Given the description of an element on the screen output the (x, y) to click on. 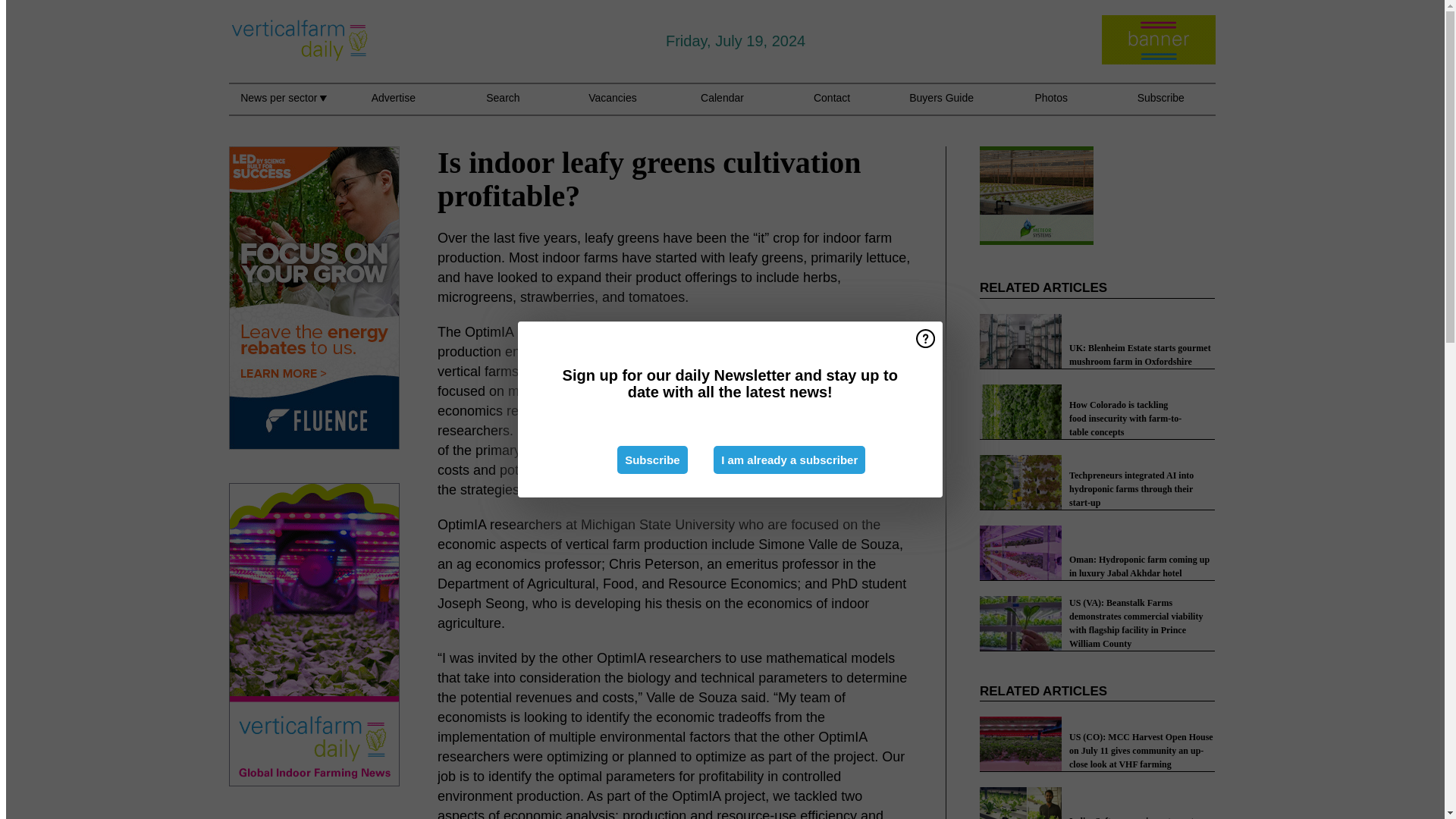
I am already a subscriber (788, 459)
Search (502, 106)
Advertise (392, 106)
News per sector (283, 106)
Subscribe (652, 459)
